Given the description of an element on the screen output the (x, y) to click on. 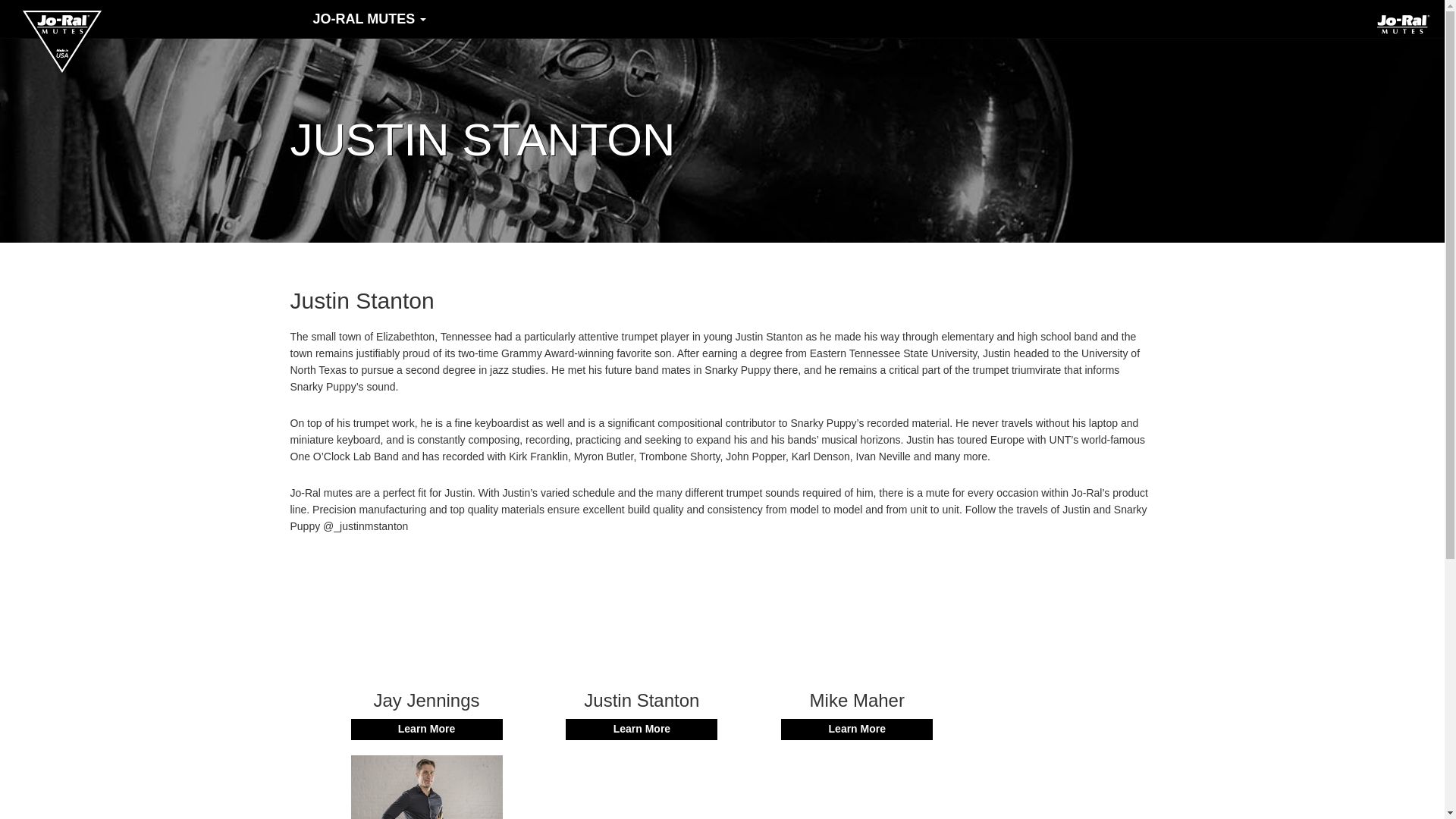
JO-RAL MUTES (369, 18)
Jo-Ral Mutes (369, 18)
Learn More (426, 730)
Learn More (641, 730)
Learn More (856, 730)
